Given the description of an element on the screen output the (x, y) to click on. 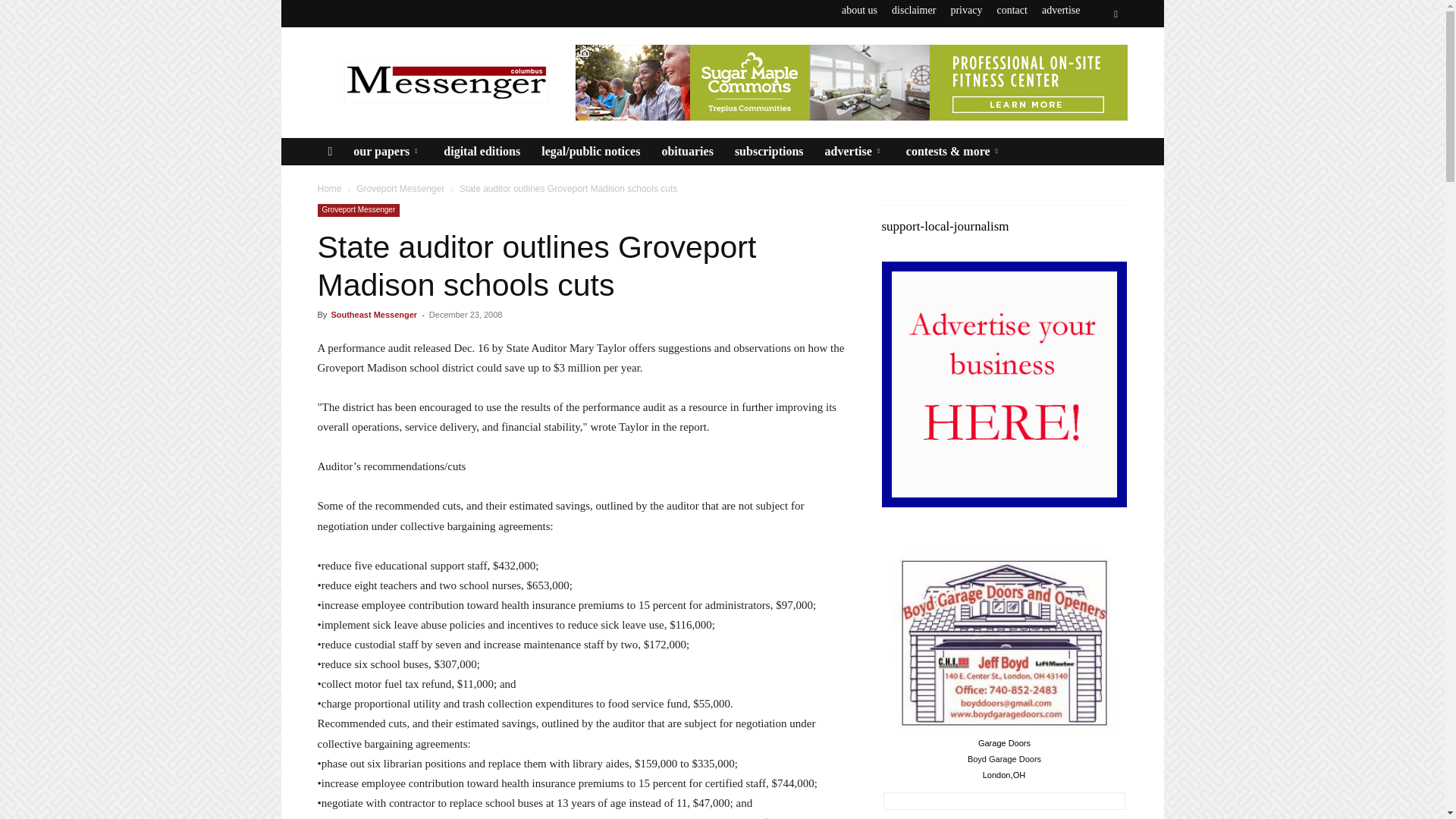
privacy (965, 9)
Columbus Messenger - Ohios Newspaper (445, 82)
View all posts in Groveport Messenger (400, 188)
our papers (387, 151)
contact (1010, 9)
Search (1085, 70)
advertise (1061, 9)
about us (859, 9)
disclaimer (913, 9)
